Given the description of an element on the screen output the (x, y) to click on. 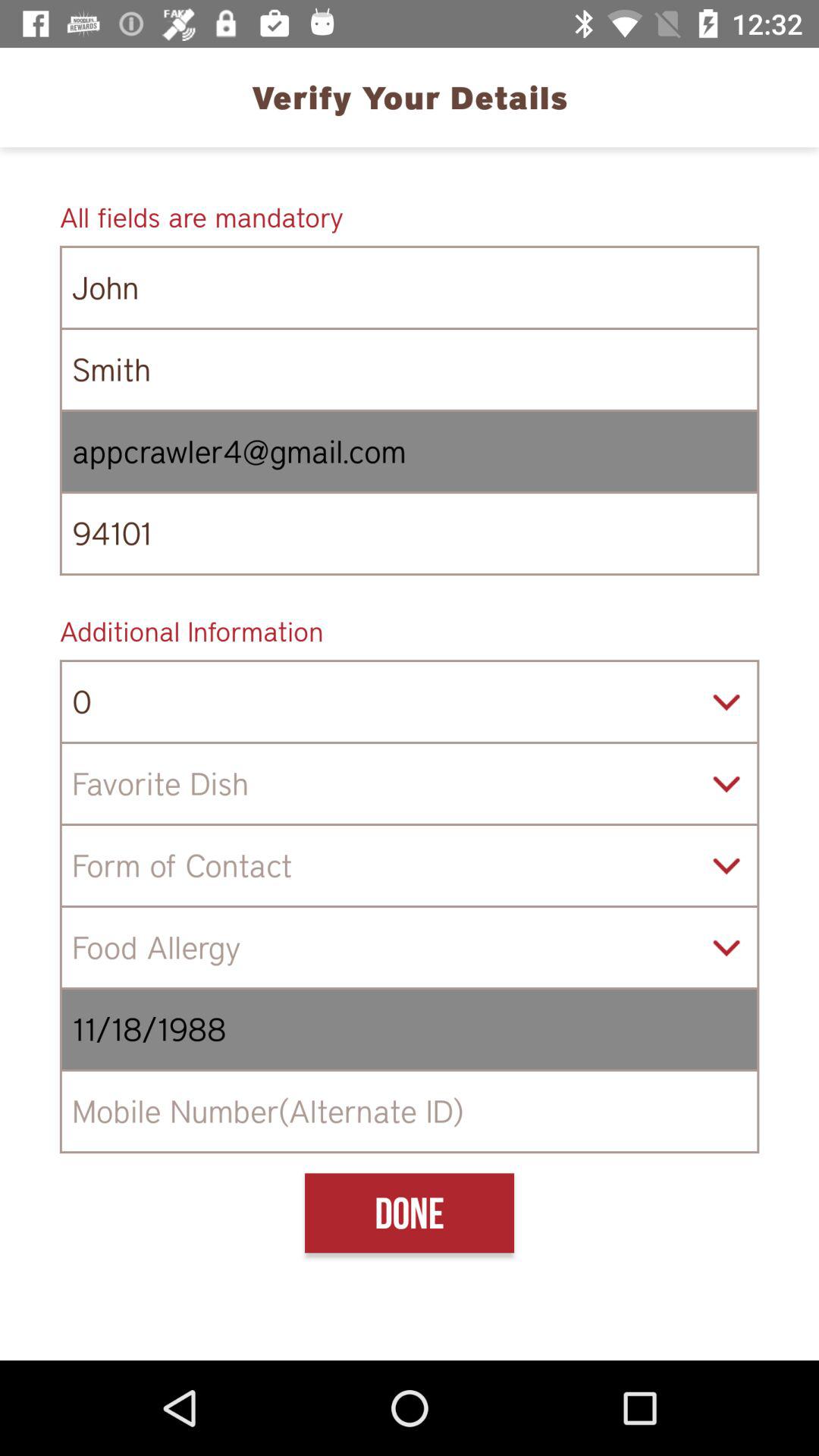
swipe until additional information (409, 631)
